Given the description of an element on the screen output the (x, y) to click on. 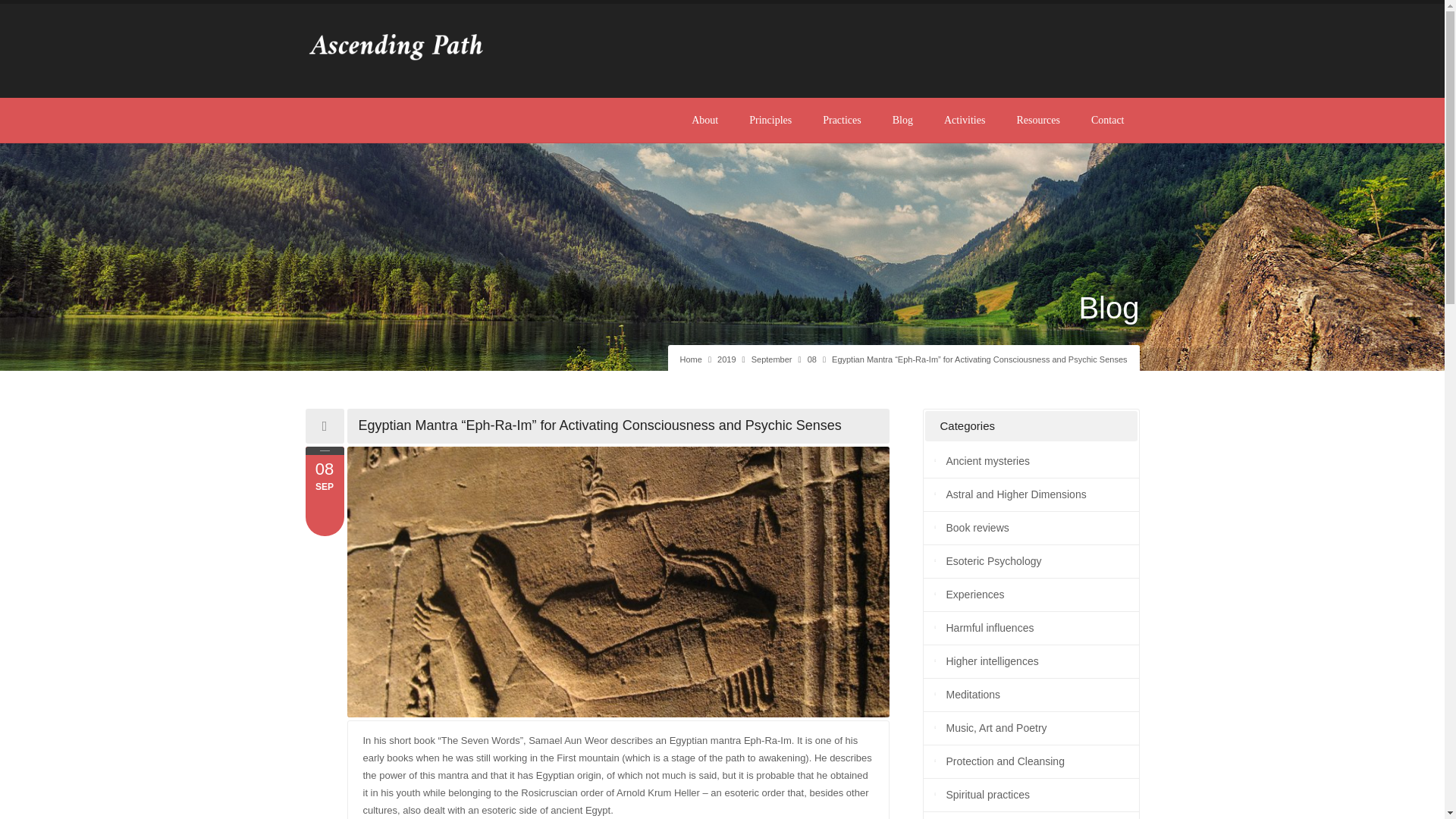
Ascending Path (690, 358)
2019 (726, 358)
Comments (323, 478)
Practices (841, 120)
Principles (770, 120)
Activities (964, 120)
Resources (1037, 120)
September 8, 2019 (812, 358)
September 2019 (771, 358)
